Given the description of an element on the screen output the (x, y) to click on. 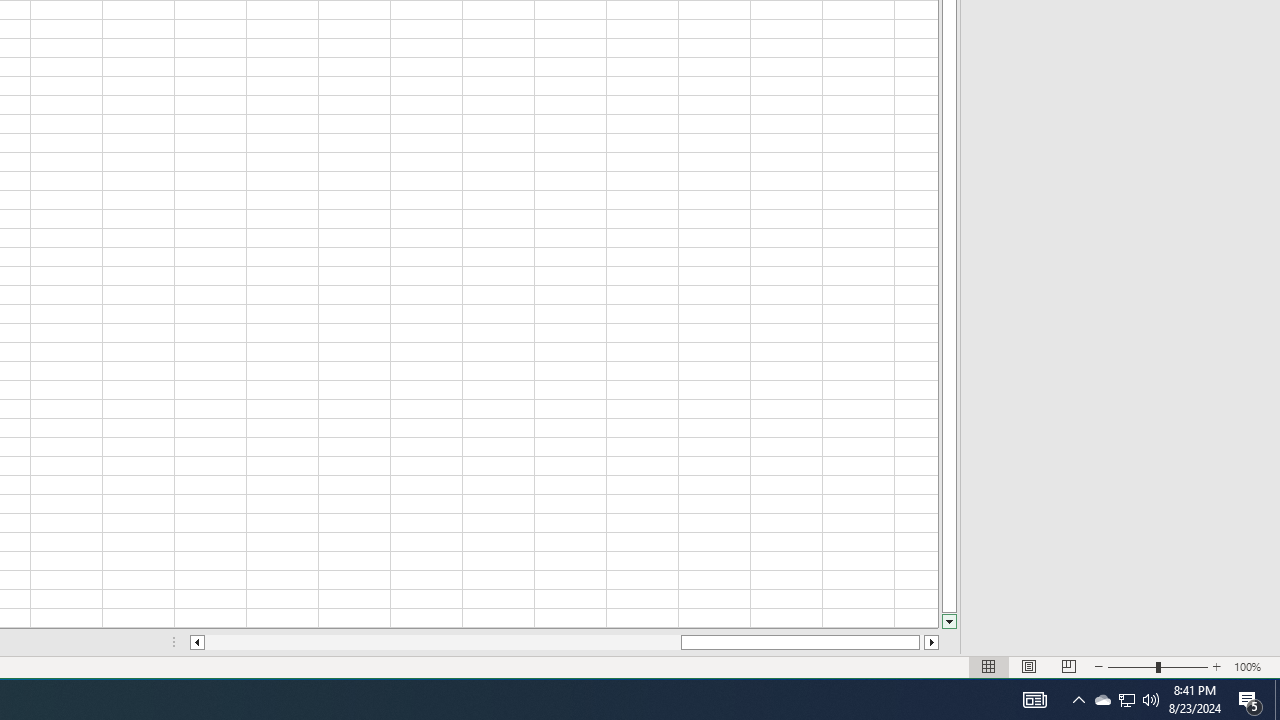
AutomationID: 4105 (1034, 699)
Notification Chevron (1126, 699)
Show desktop (1078, 699)
